Given the description of an element on the screen output the (x, y) to click on. 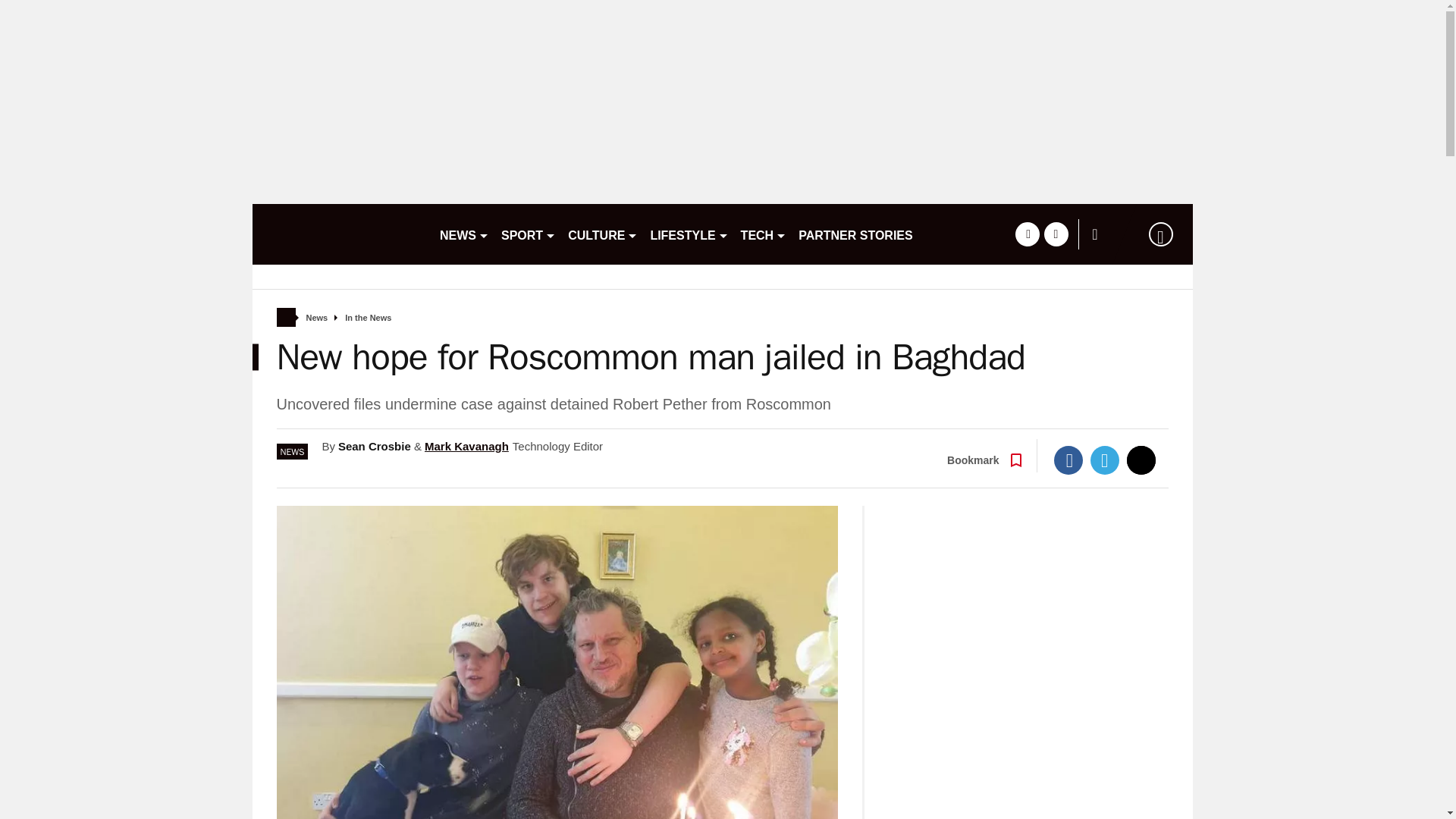
SPORT (528, 233)
Twitter (1104, 460)
facebook (1026, 233)
Facebook (1068, 460)
twitter (1055, 233)
PARTNER STORIES (855, 233)
LIFESTYLE (688, 233)
TECH (764, 233)
CULTURE (602, 233)
buzz (338, 233)
NEWS (464, 233)
